Given the description of an element on the screen output the (x, y) to click on. 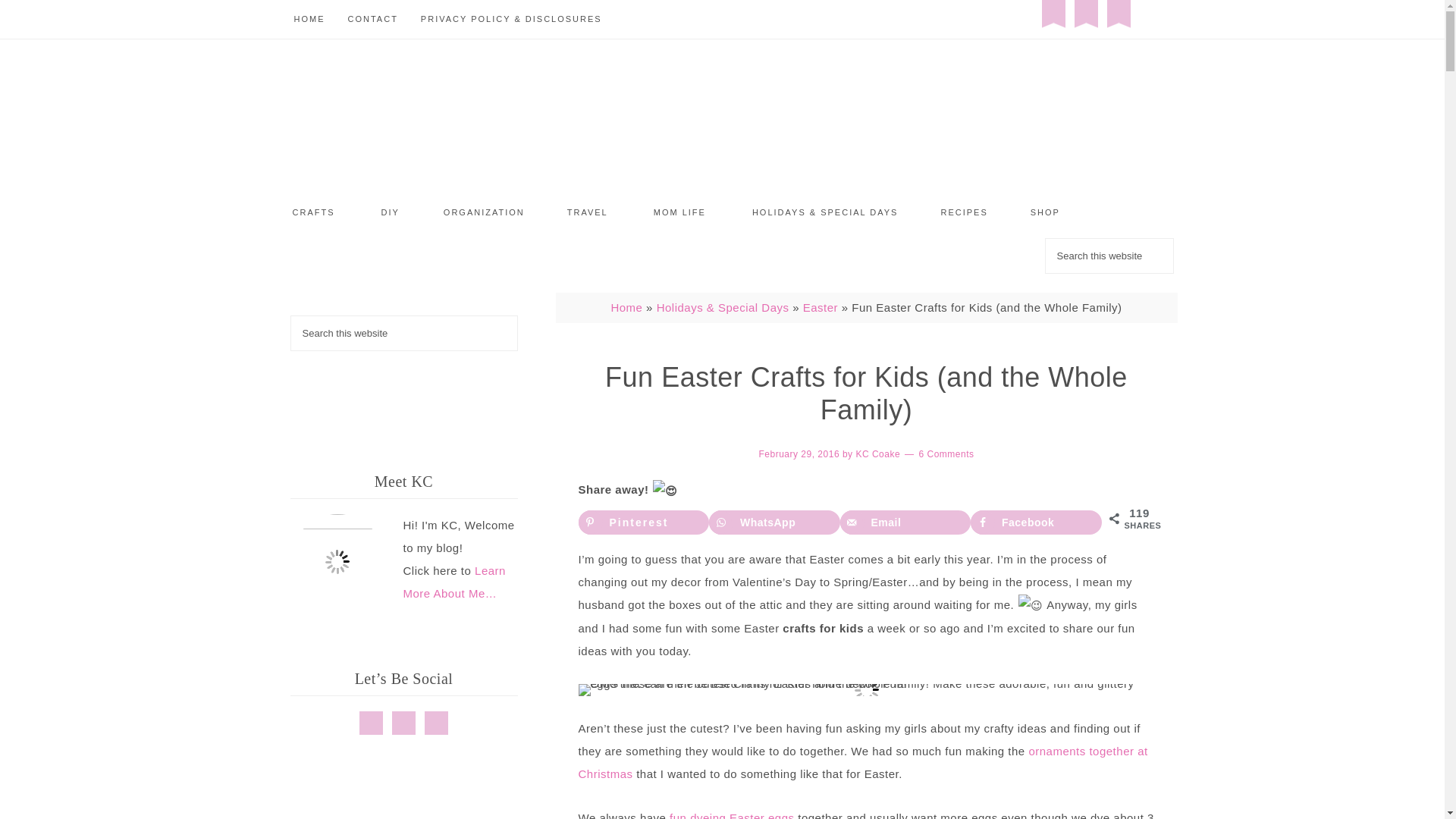
ORGANIZATION (483, 212)
HOME (309, 19)
CRAFTS (313, 212)
TRAVEL (588, 212)
Share on WhatsApp (774, 522)
Easter (820, 307)
